Given the description of an element on the screen output the (x, y) to click on. 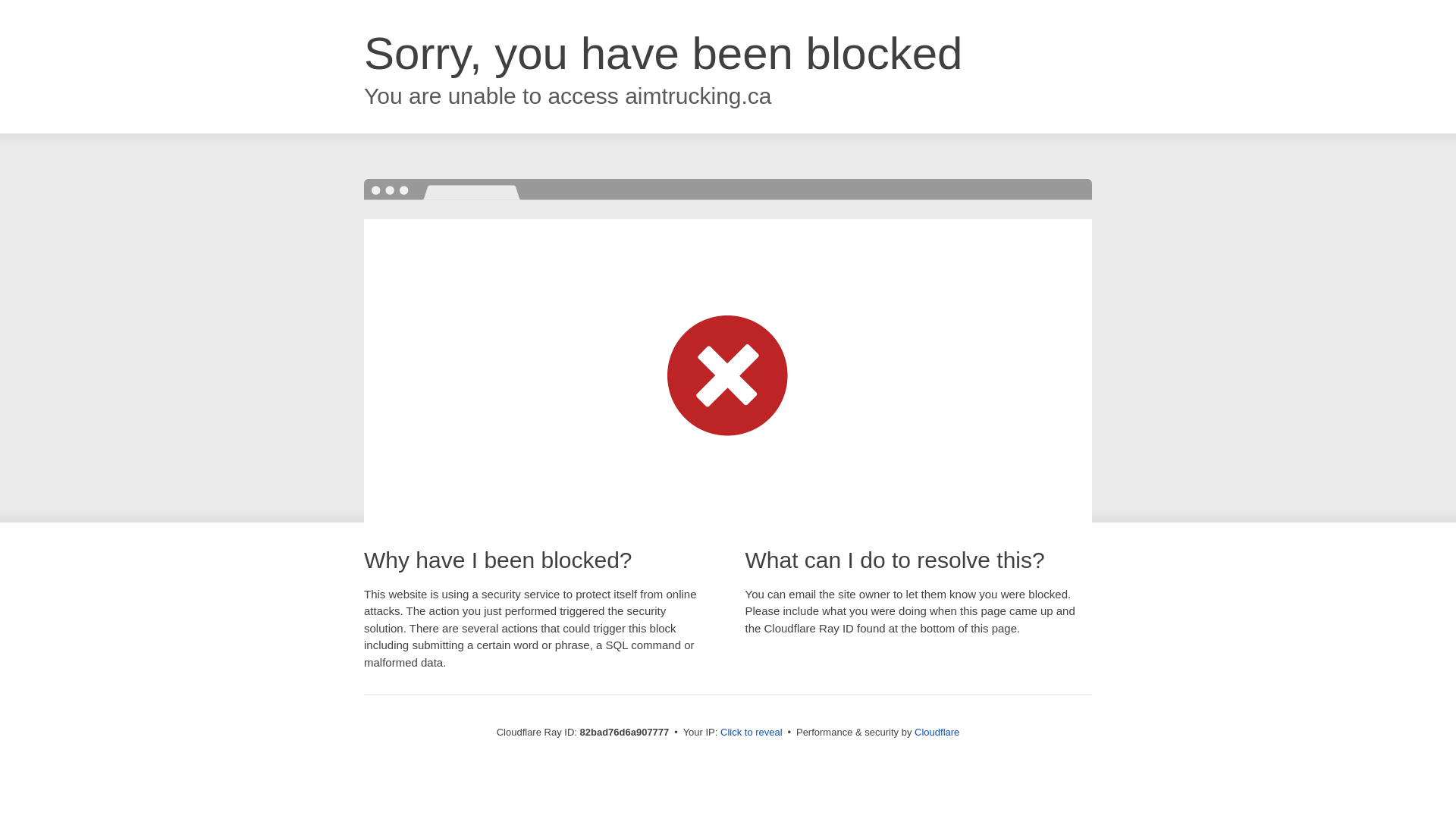
Cloudflare Element type: text (936, 731)
Click to reveal Element type: text (751, 732)
